Given the description of an element on the screen output the (x, y) to click on. 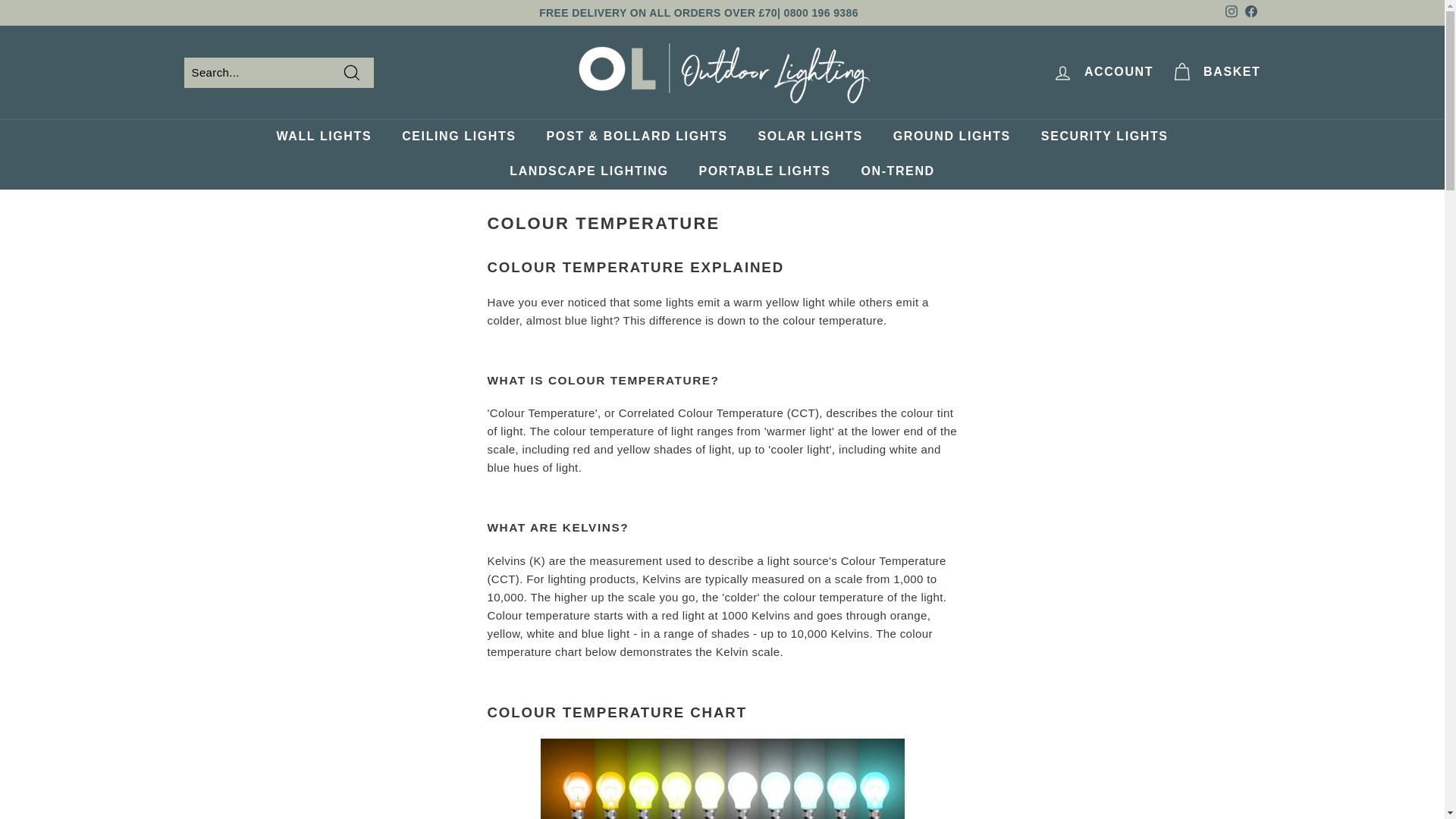
SOLAR LIGHTS (809, 135)
GROUND LIGHTS (951, 135)
CEILING LIGHTS (459, 135)
WALL LIGHTS (323, 135)
ACCOUNT (1102, 72)
